Given the description of an element on the screen output the (x, y) to click on. 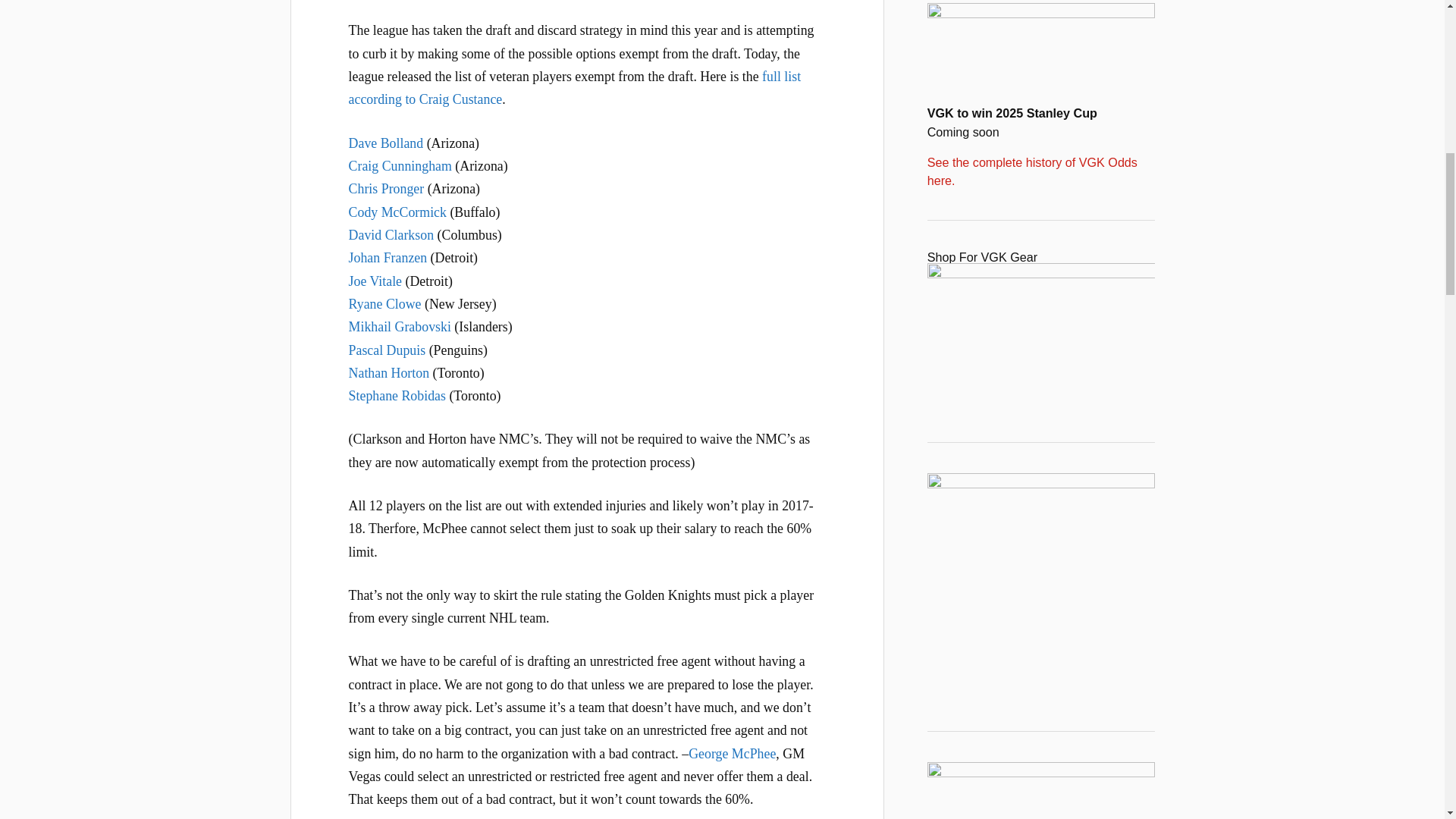
Pascal Dupuis (387, 350)
full list according to Craig Custance (575, 87)
David Clarkson (391, 234)
Joe Vitale (375, 281)
Cody McCormick (397, 212)
Dave Bolland (386, 142)
Ryane Clowe (385, 304)
Mikhail Grabovski (400, 326)
Chris Pronger (387, 188)
Craig Cunningham (400, 165)
